Given the description of an element on the screen output the (x, y) to click on. 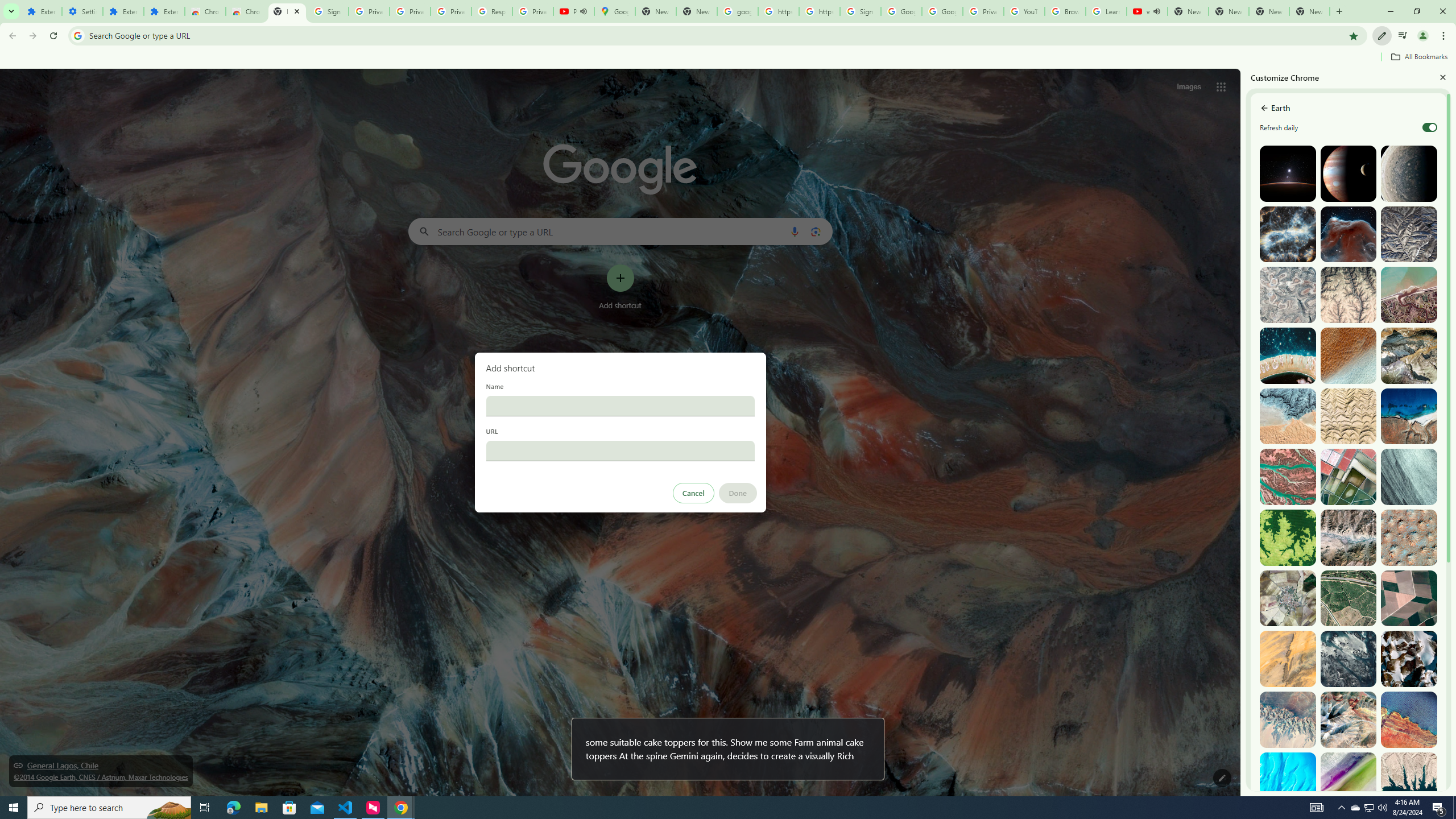
Granville, France (1348, 658)
https://scholar.google.com/ (818, 11)
Iceland (1408, 476)
Browse Chrome as a guest - Computer - Google Chrome Help (1064, 11)
Settings (81, 11)
Pozoantiguo, Spain (1287, 598)
Trarza, Mauritania (1348, 355)
Name (620, 405)
Libya (1408, 719)
Dekese, DR Congo (1287, 537)
Search icon (77, 35)
